Given the description of an element on the screen output the (x, y) to click on. 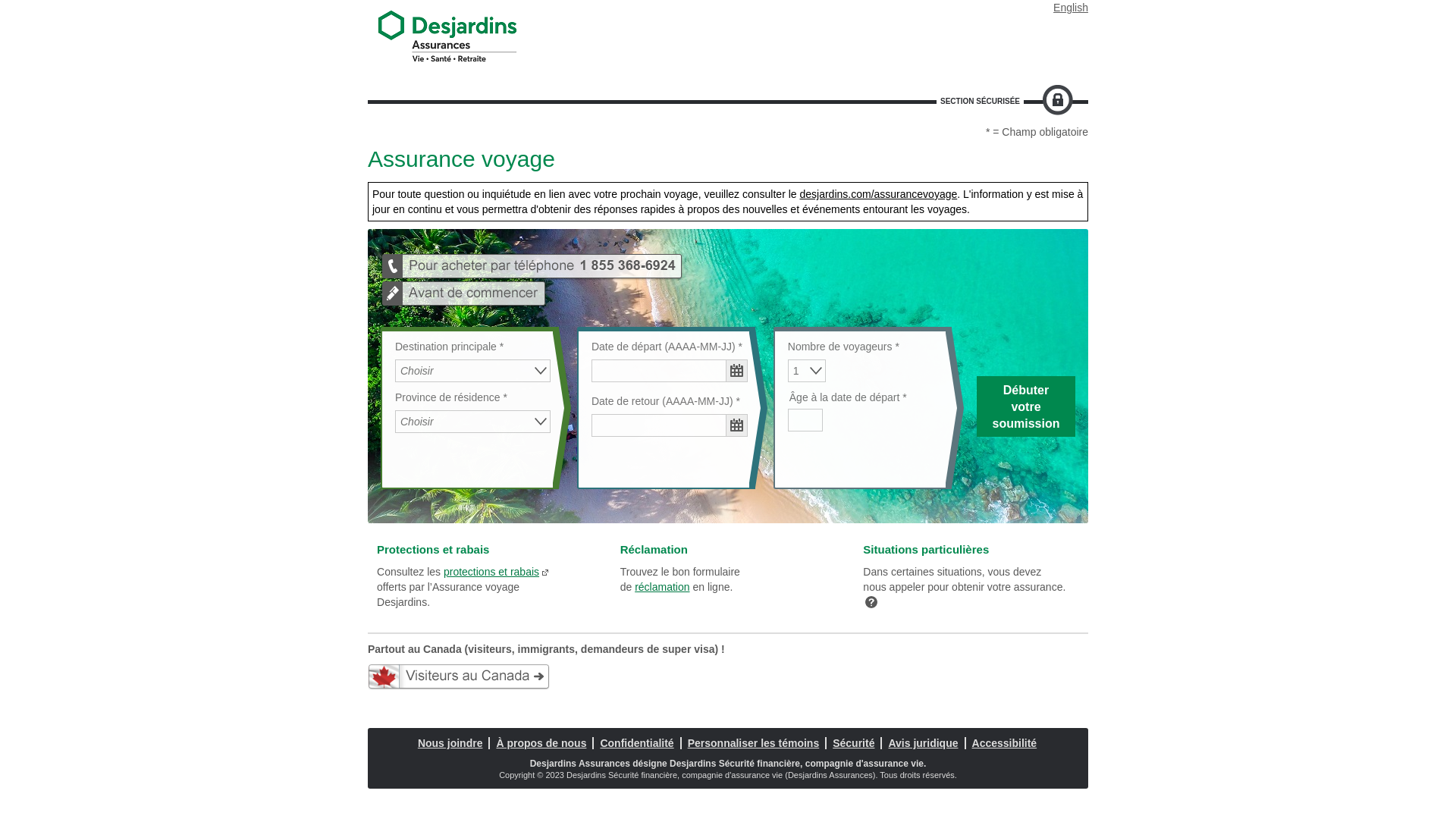
1 Element type: text (806, 370)
desjardins.com/assurancevoyage Element type: text (878, 194)
Version accessible Element type: text (728, 7)
Choisir Element type: text (472, 421)
Choisir Element type: text (472, 370)
English Element type: text (1067, 7)
